Given the description of an element on the screen output the (x, y) to click on. 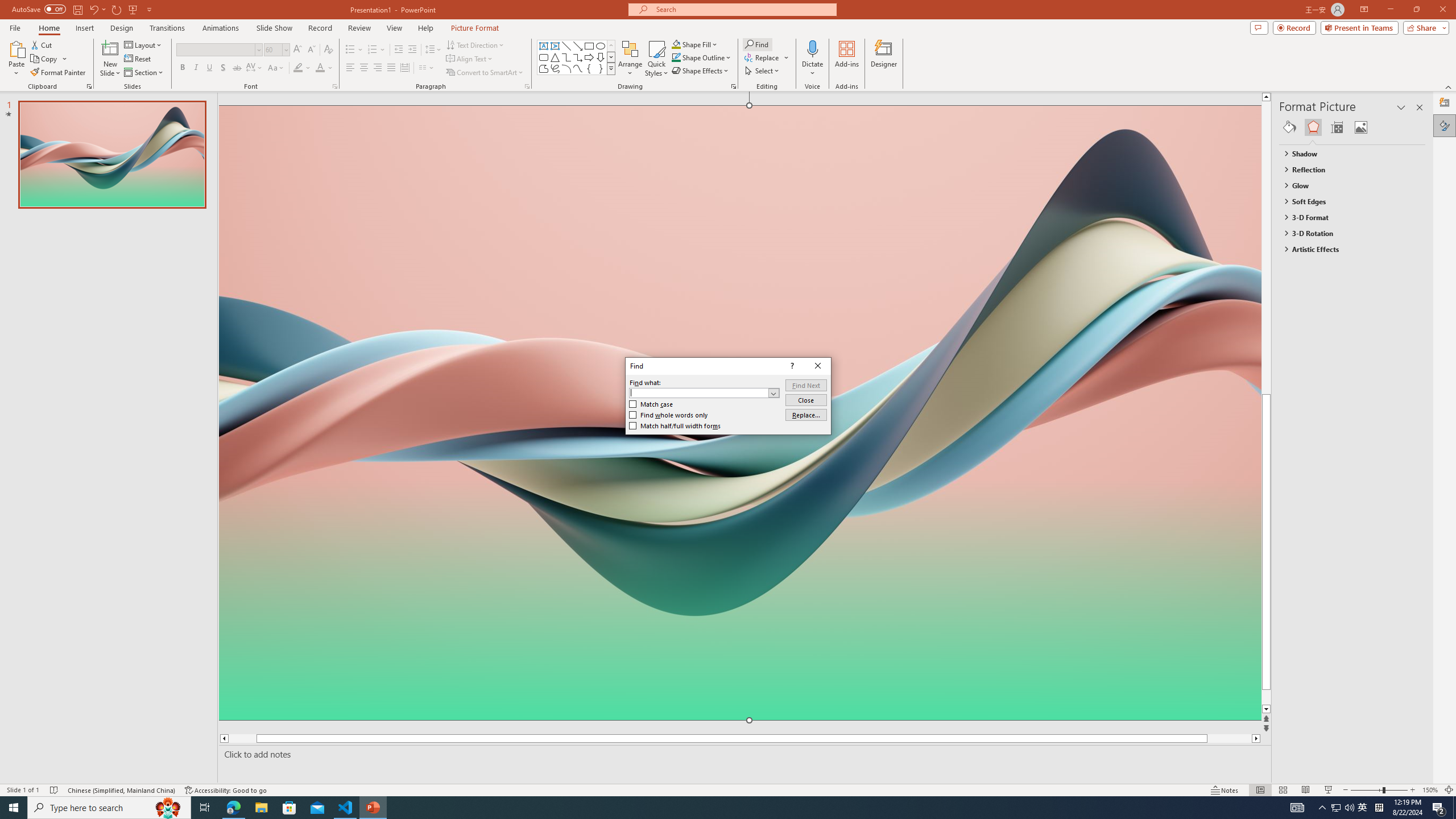
Increase Font Size (297, 49)
Shape Fill Orange, Accent 2 (675, 44)
Layout (143, 44)
Distributed (404, 67)
